Given the description of an element on the screen output the (x, y) to click on. 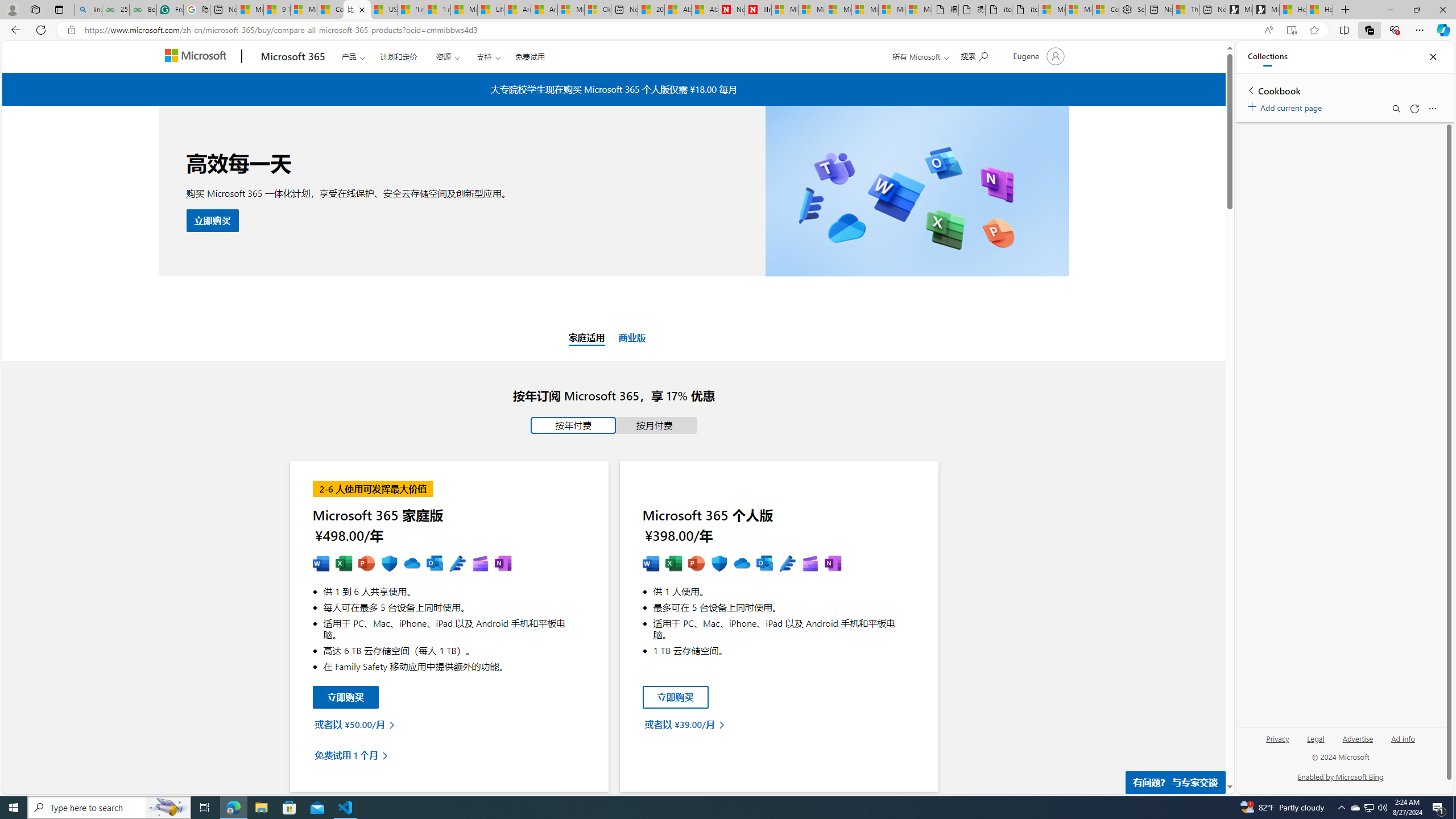
MS Powerpoint (366, 563)
MS OneDrive (742, 563)
